Given the description of an element on the screen output the (x, y) to click on. 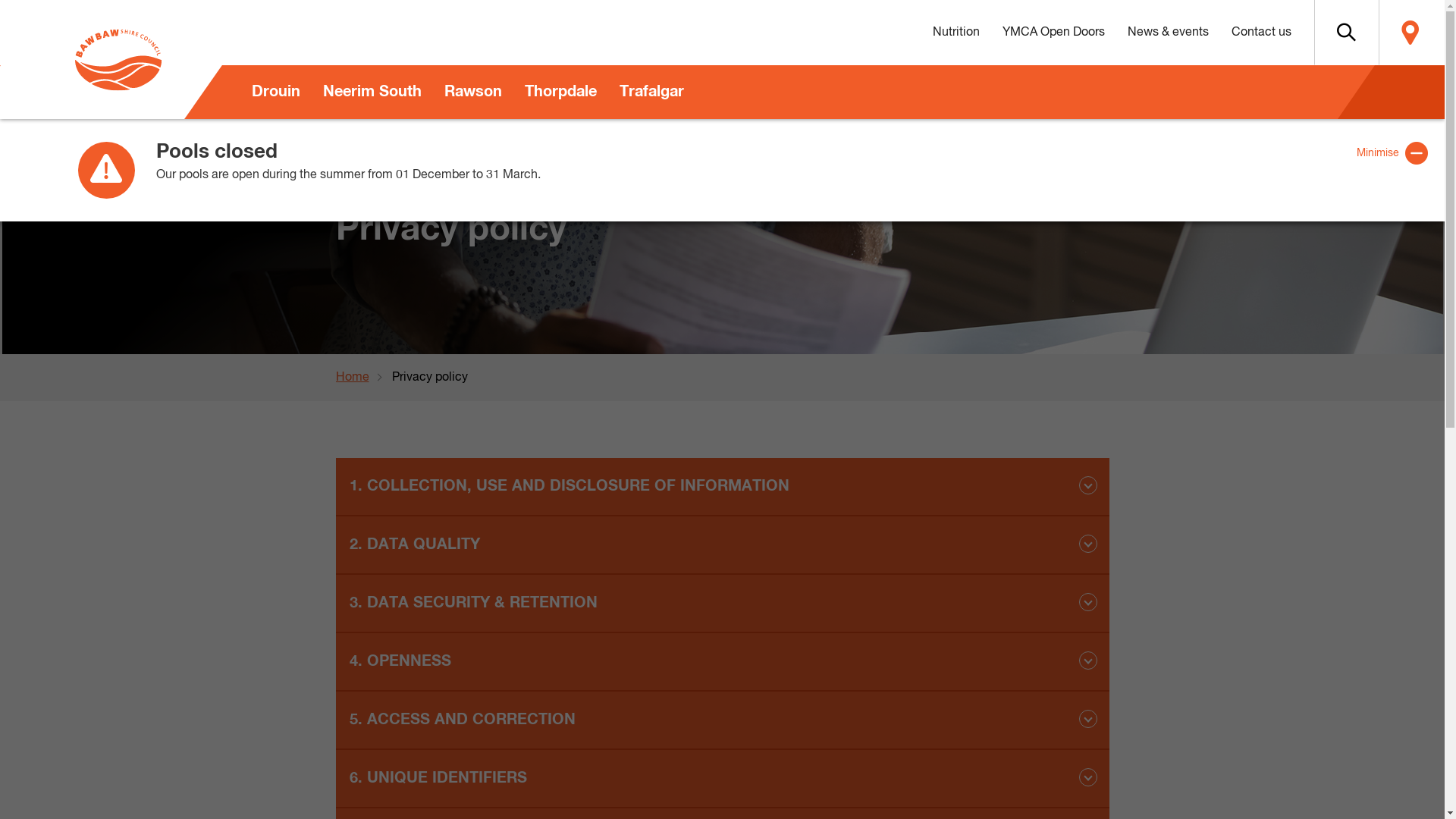
Neerim South Element type: text (371, 92)
Nutrition Element type: text (955, 32)
Drouin Element type: text (274, 92)
6. UNIQUE IDENTIFIERS Element type: text (721, 778)
Locate Element type: text (1410, 32)
News & events Element type: text (1168, 32)
5. ACCESS AND CORRECTION Element type: text (721, 720)
Contact us Element type: text (1260, 32)
Home Element type: text (363, 377)
Trafalgar Element type: text (651, 92)
Rawson Element type: text (472, 92)
4. OPENNESS Element type: text (721, 662)
2. DATA QUALITY Element type: text (721, 545)
Thorpdale Element type: text (559, 92)
YMCA Open Doors Element type: text (1052, 32)
1. COLLECTION, USE AND DISCLOSURE OF INFORMATION Element type: text (721, 487)
3. DATA SECURITY & RETENTION Element type: text (721, 603)
